Given the description of an element on the screen output the (x, y) to click on. 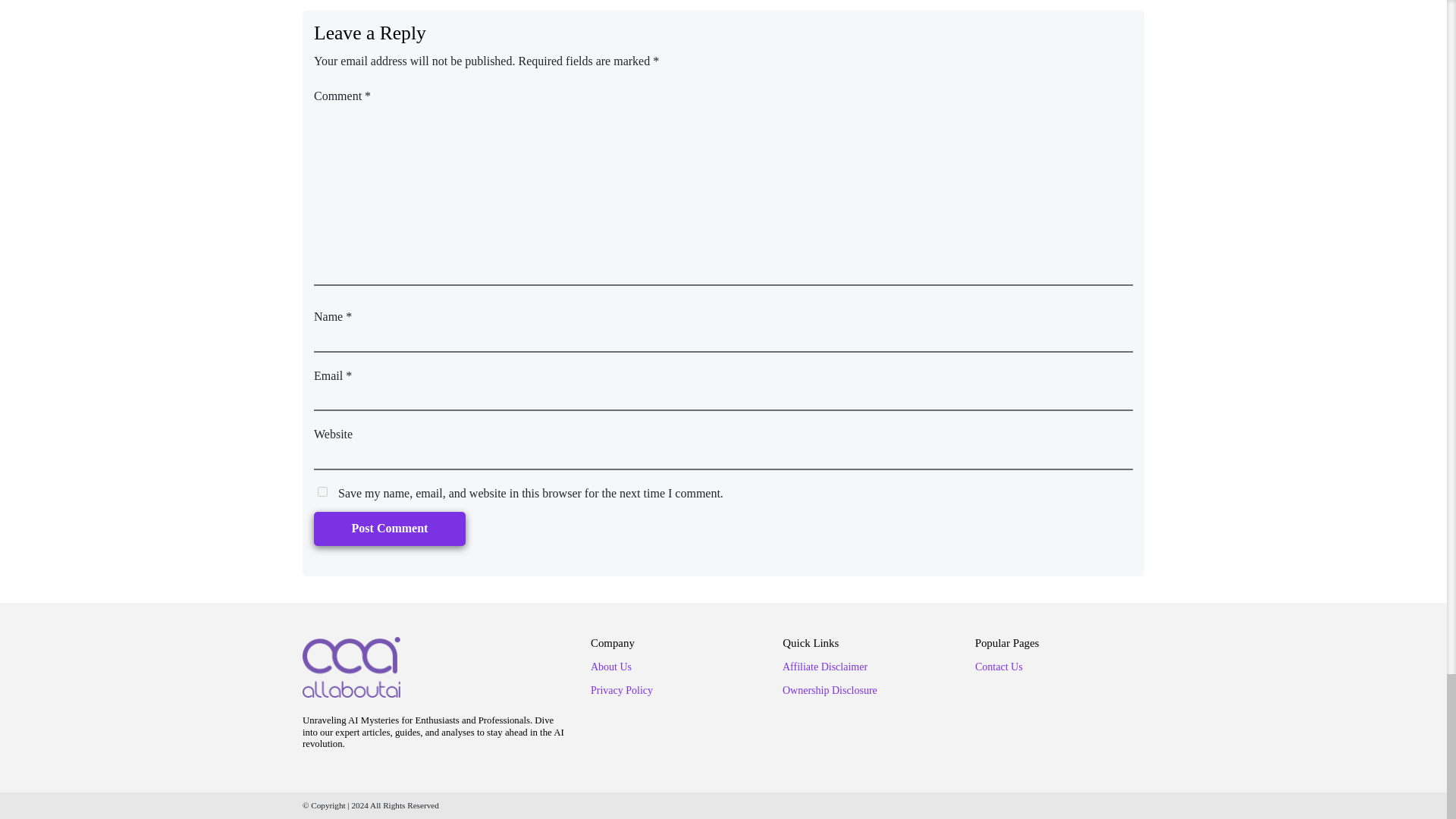
Post Comment (389, 528)
yes (322, 491)
